Given the description of an element on the screen output the (x, y) to click on. 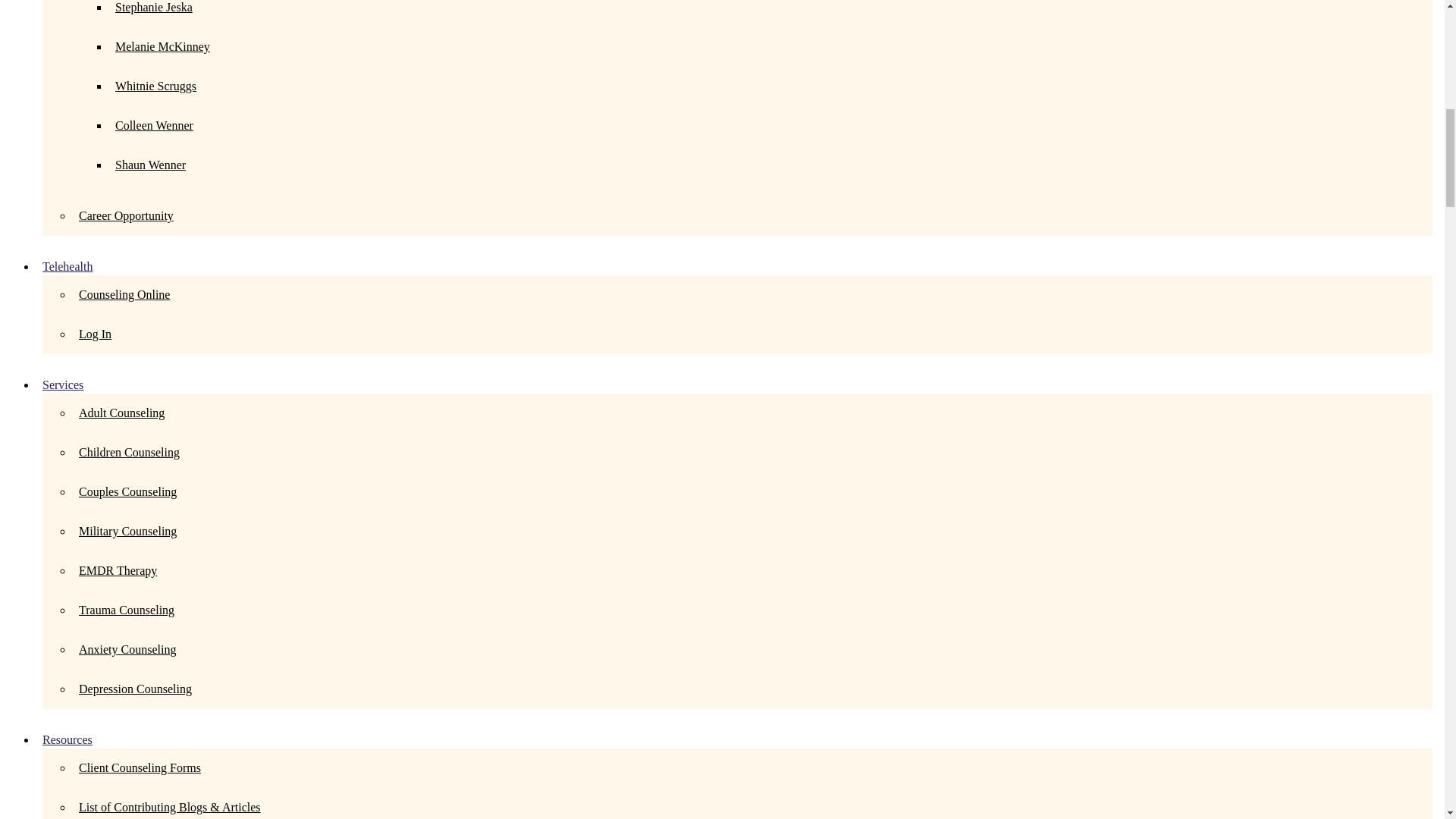
Telehealth (67, 266)
Stephanie Jeska (153, 6)
Colleen Wenner (154, 124)
Resources (67, 739)
Trauma Counseling (126, 609)
Adult Counseling (121, 412)
Military Counseling (127, 530)
Counseling Online (124, 294)
Couples Counseling (127, 491)
EMDR Therapy (117, 570)
Melanie McKinney (162, 46)
Log In (95, 333)
Shaun Wenner (150, 164)
Children Counseling (128, 451)
Services (62, 384)
